Given the description of an element on the screen output the (x, y) to click on. 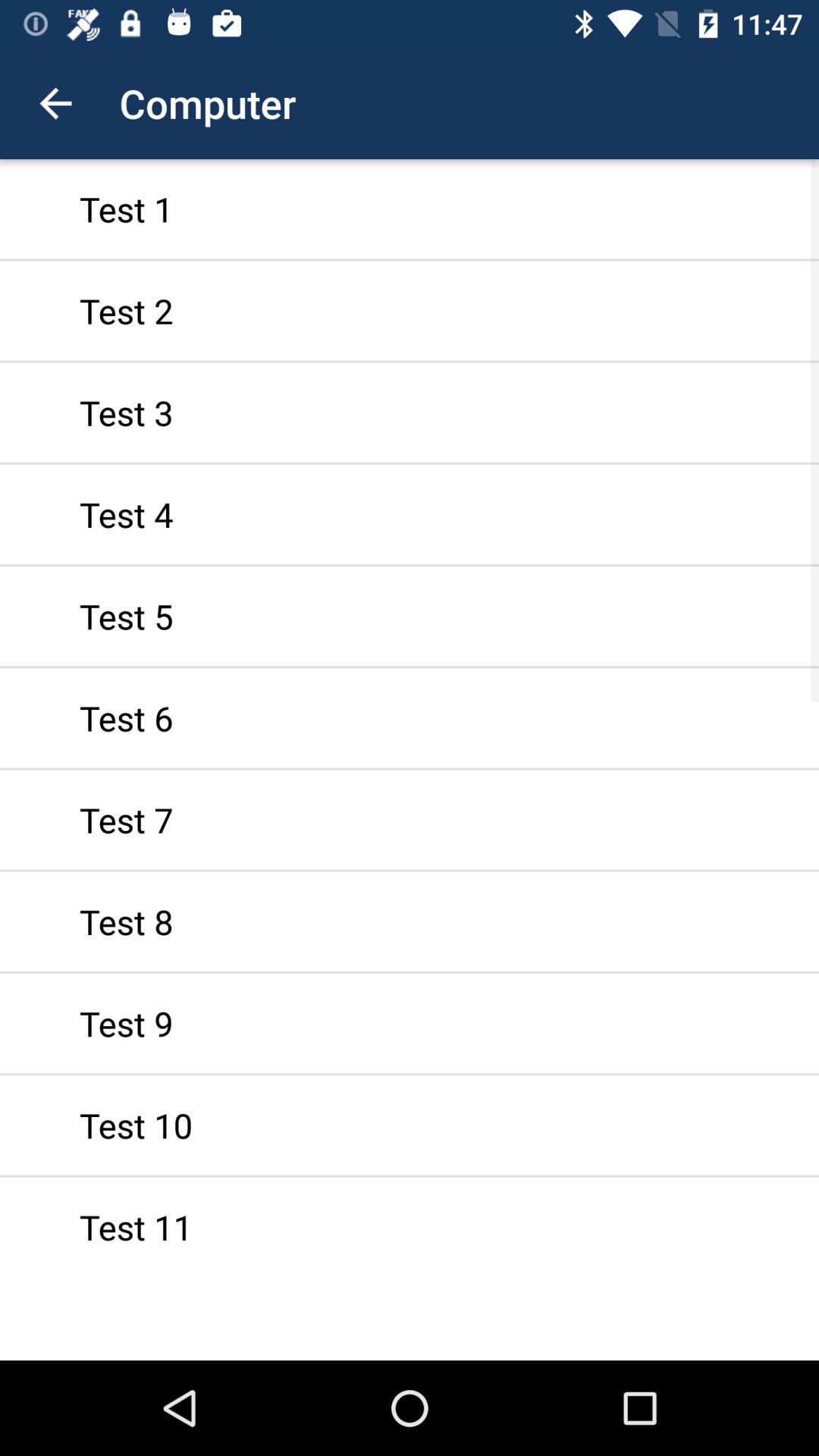
press the test 4 (409, 514)
